Given the description of an element on the screen output the (x, y) to click on. 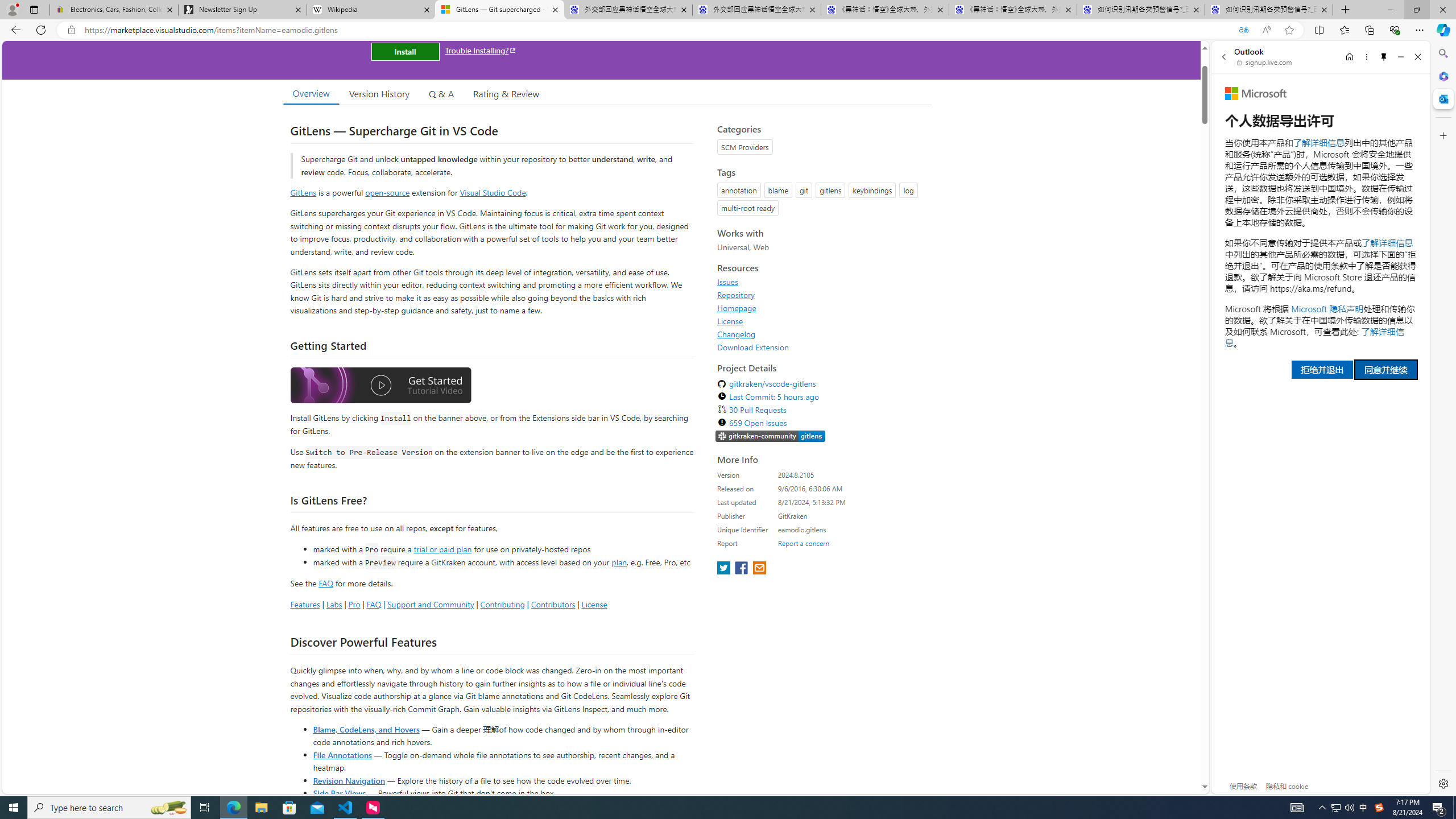
Side Bar Views (339, 792)
Q & A (441, 92)
Rating & Review (505, 92)
share extension on facebook (742, 568)
plan (618, 562)
trial or paid plan (442, 548)
